Given the description of an element on the screen output the (x, y) to click on. 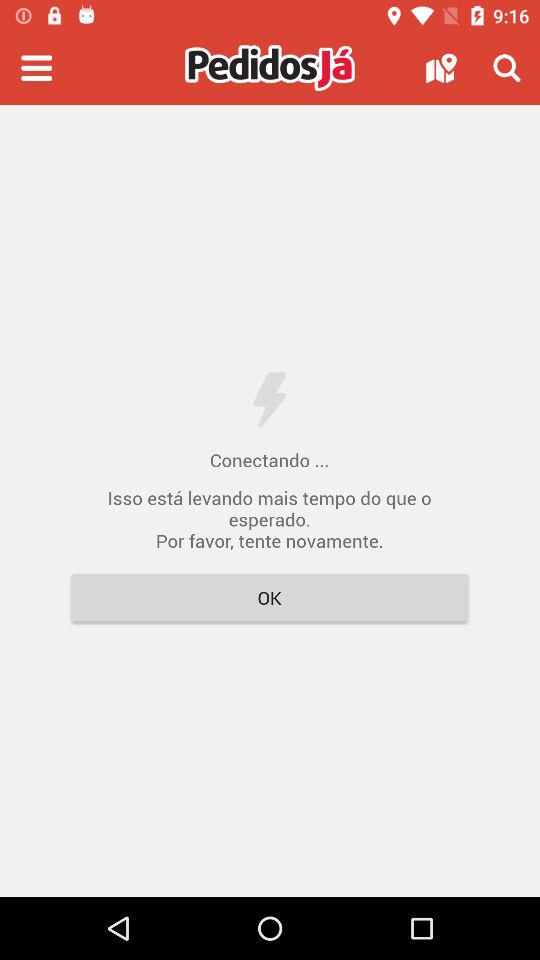
menu options (36, 68)
